Given the description of an element on the screen output the (x, y) to click on. 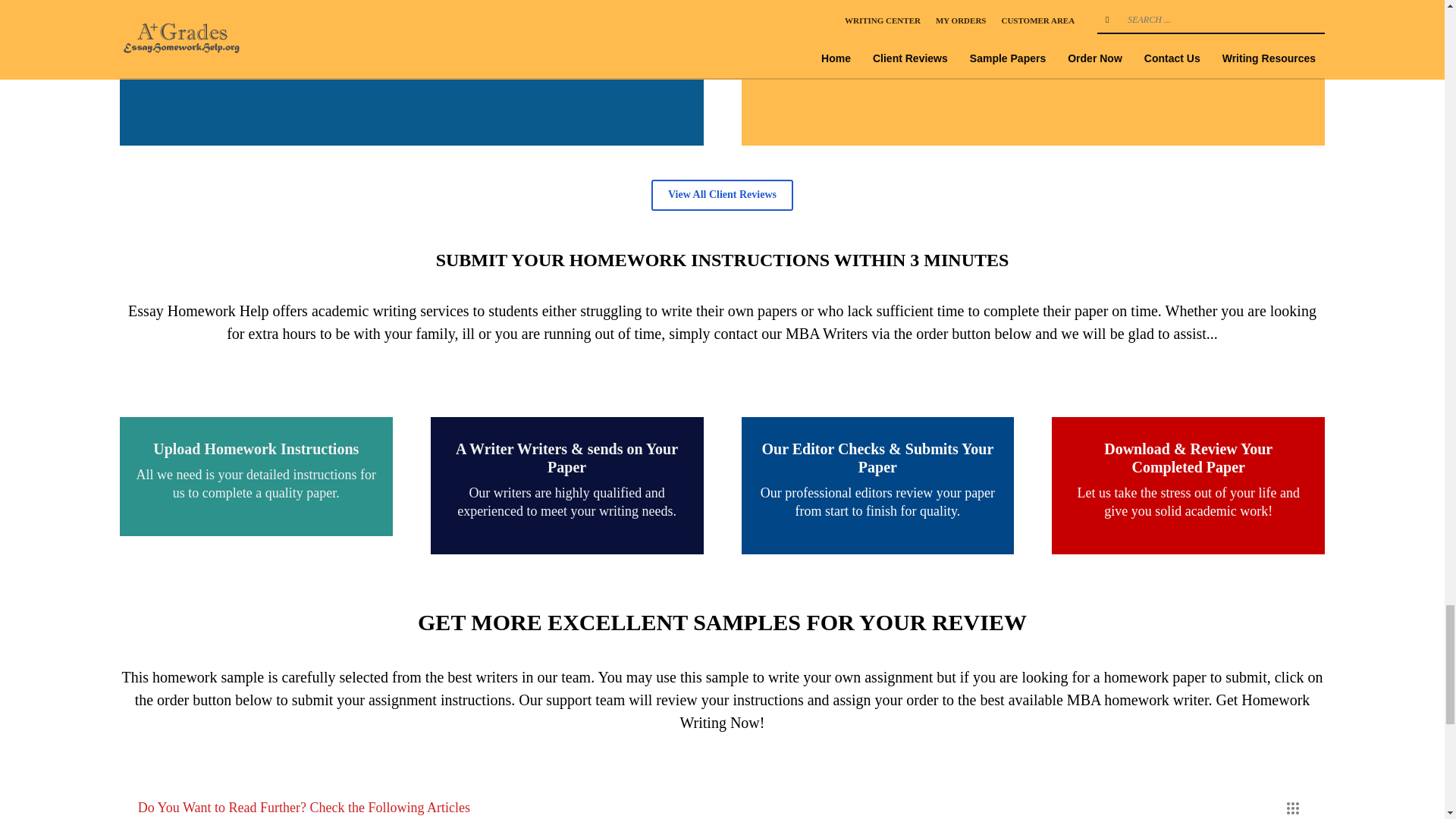
View All Client Reviews (721, 194)
